Given the description of an element on the screen output the (x, y) to click on. 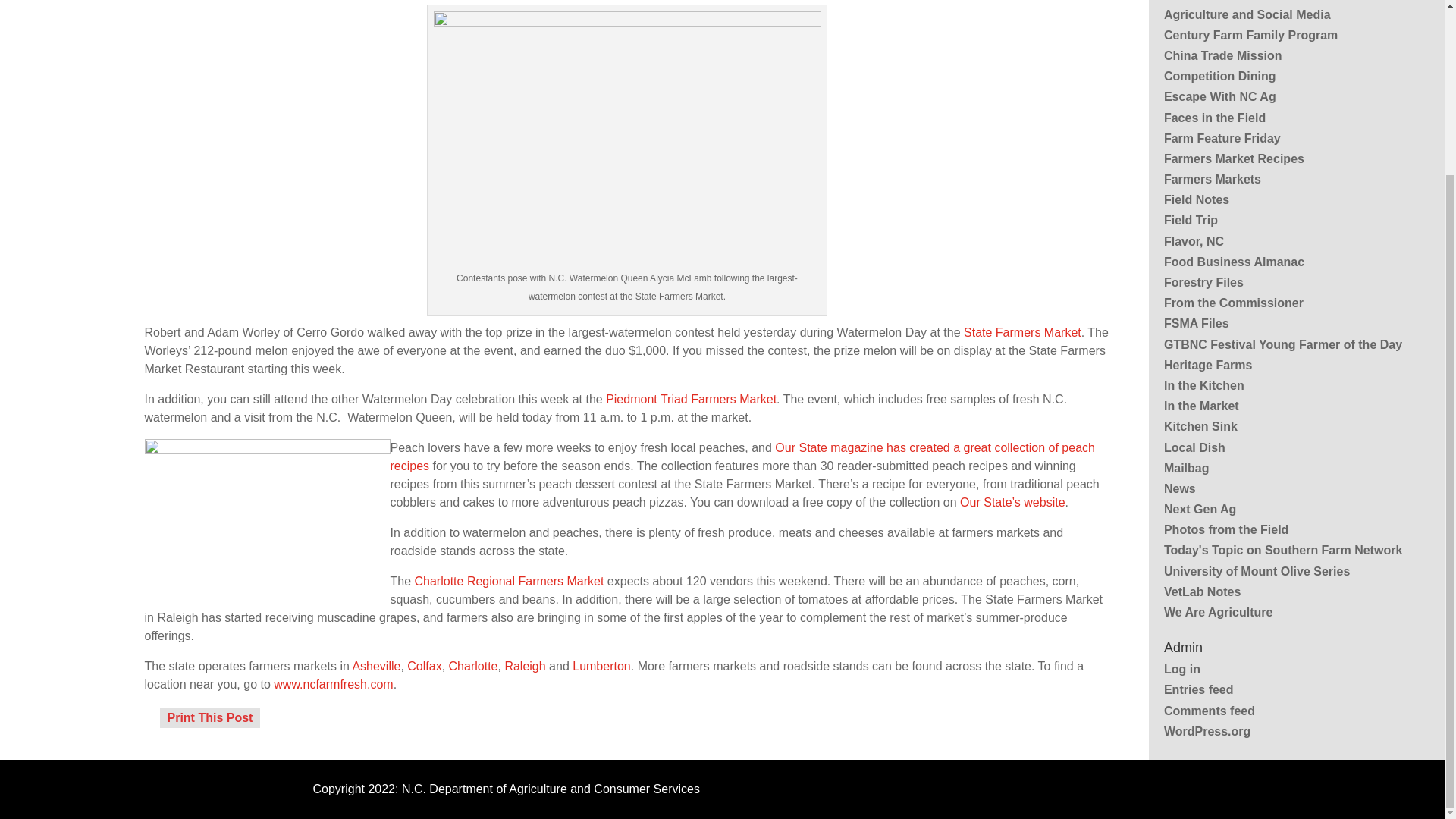
China Trade Mission (1222, 55)
From the Commissioner (1233, 302)
Farmers Markets (1211, 178)
GTBNC Festival Young Farmer of the Day (1282, 344)
Charlotte Regional Farmers Market (509, 581)
Agriculture and Social Media (1246, 14)
Asheville (376, 666)
Piedmont Triad Farmers Market (690, 399)
Lumberton (601, 666)
Food Business Almanac (1233, 261)
Field Notes (1195, 199)
State Farmers Market (1022, 332)
Watermelon Day 2011 (627, 139)
Charlotte (472, 666)
Colfax (424, 666)
